Given the description of an element on the screen output the (x, y) to click on. 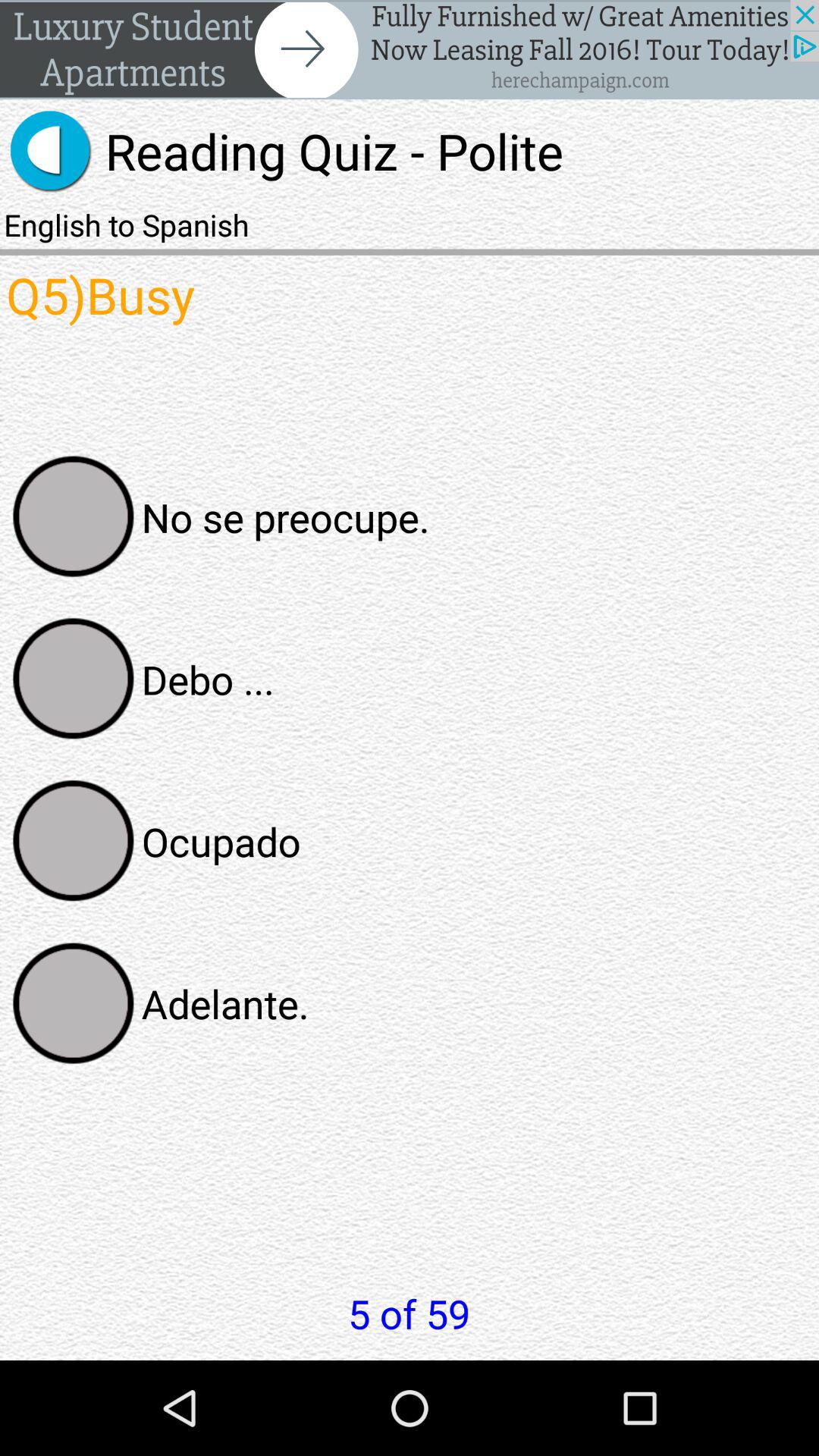
quiz answer option (73, 1003)
